Given the description of an element on the screen output the (x, y) to click on. 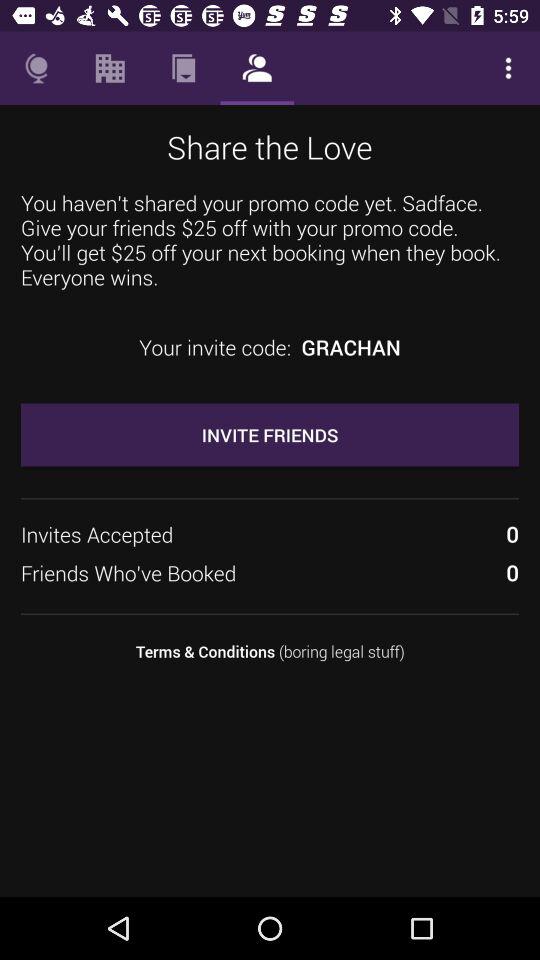
flip until the invite friends icon (270, 434)
